Given the description of an element on the screen output the (x, y) to click on. 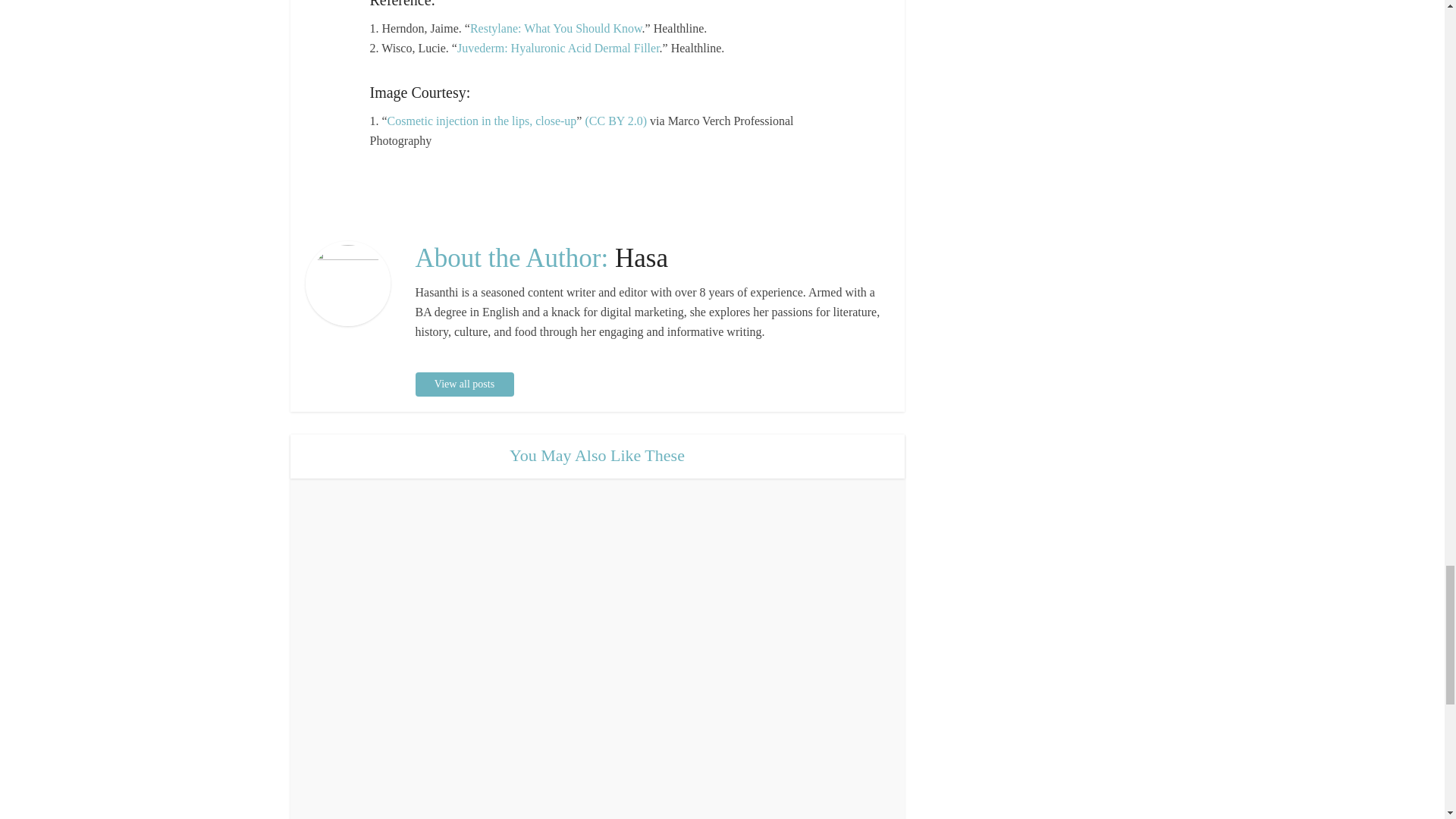
Juvederm: Hyaluronic Acid Dermal Filler (558, 47)
Restylane: What You Should Know (556, 28)
Cosmetic injection in the lips, close-up (481, 120)
